Given the description of an element on the screen output the (x, y) to click on. 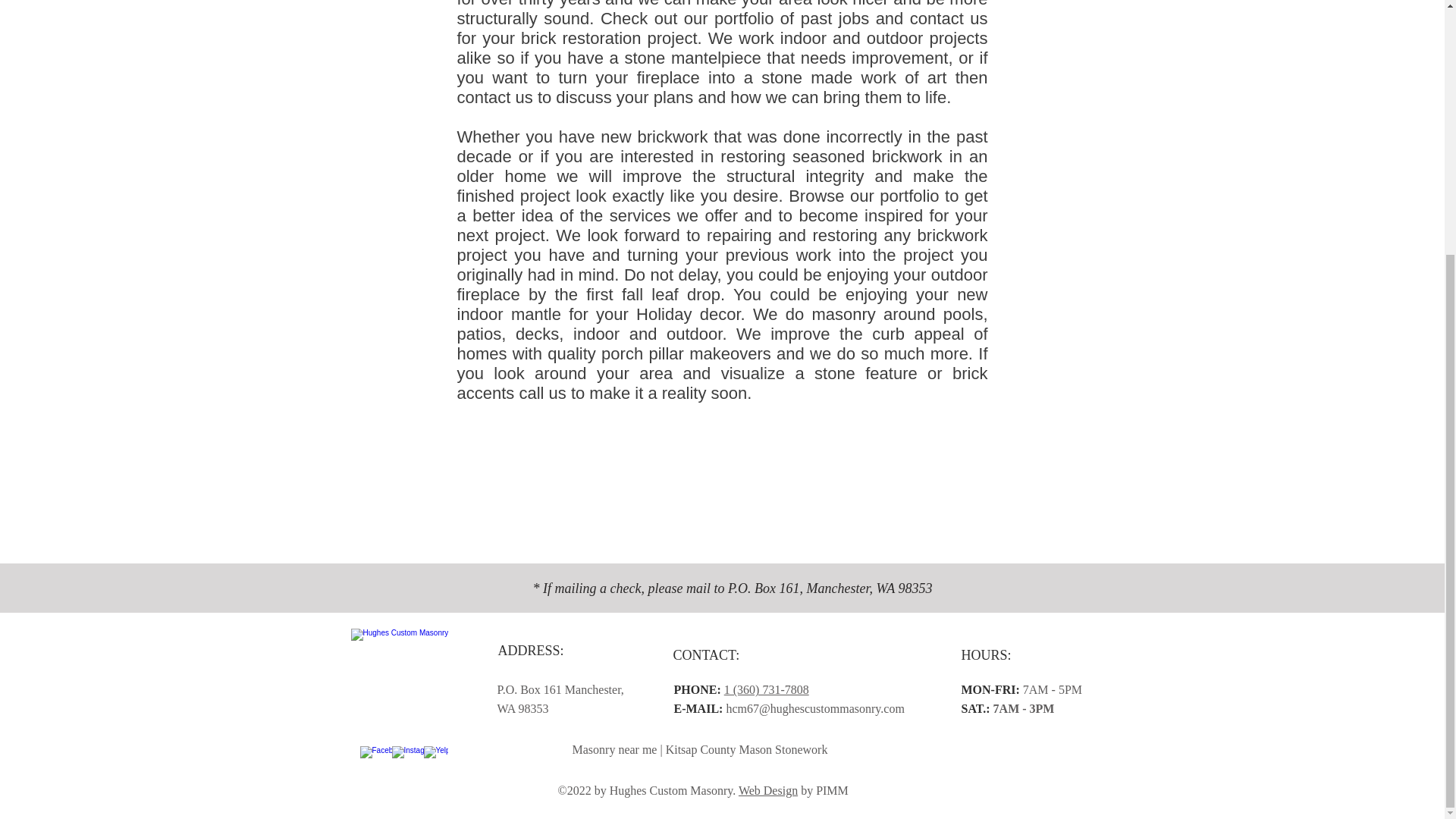
Web Design (767, 789)
